Given the description of an element on the screen output the (x, y) to click on. 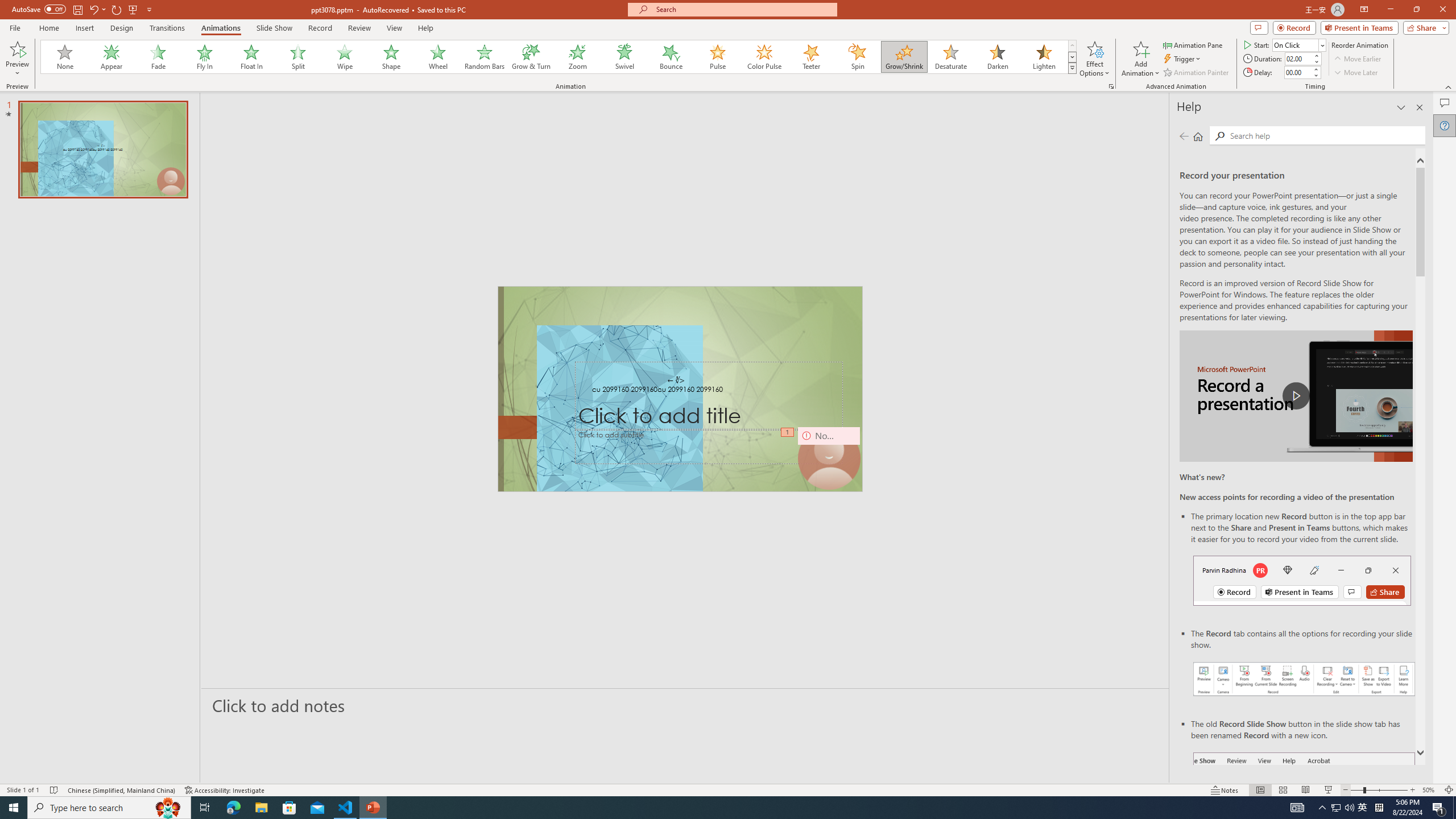
Fade (158, 56)
TextBox 61 (679, 389)
Shape (391, 56)
Float In (251, 56)
Camera 9, No camera detected. (828, 457)
